Given the description of an element on the screen output the (x, y) to click on. 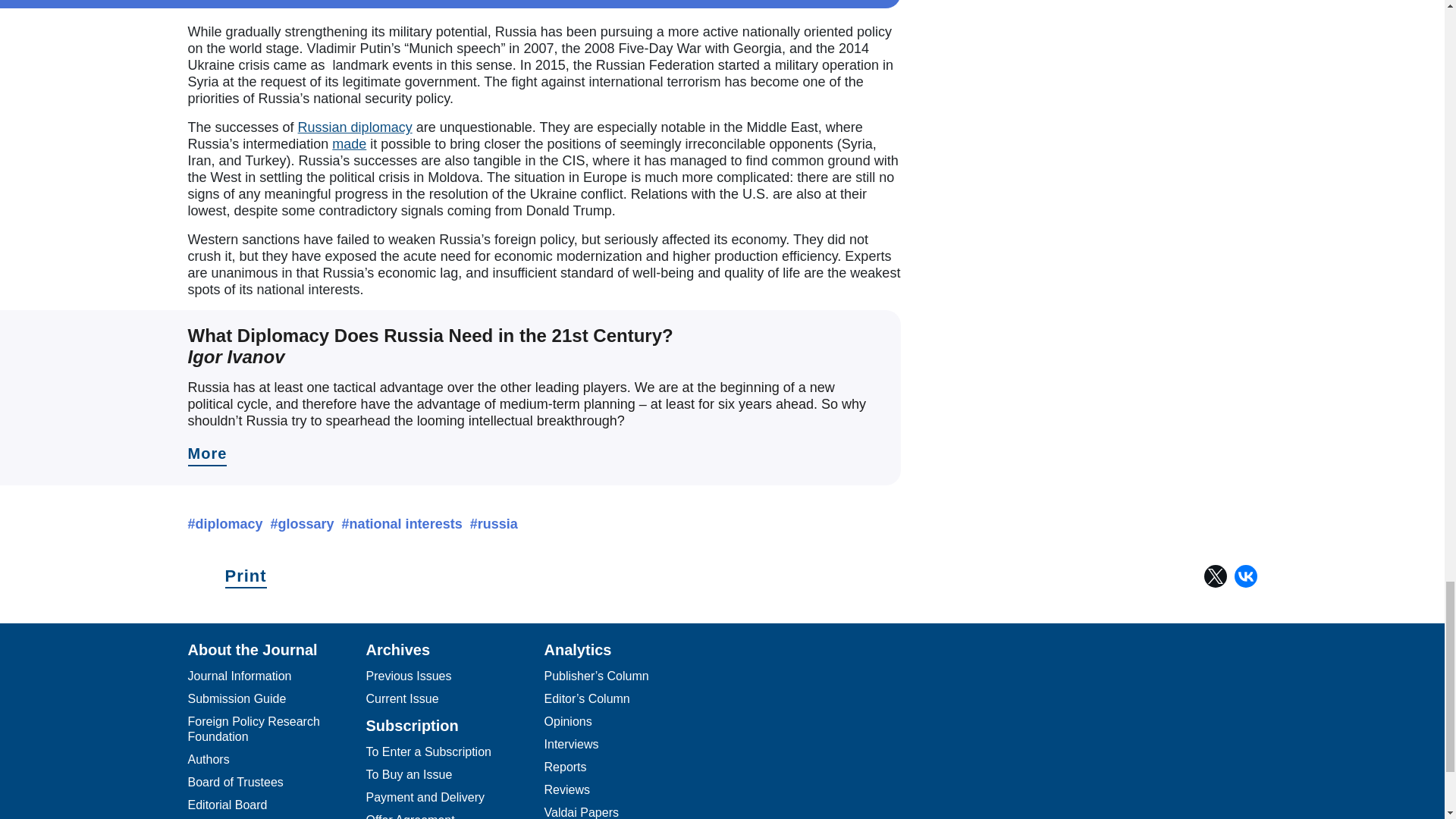
Twitter (805, 780)
Telegram (744, 780)
Twitter (1215, 576)
Vkontakte (865, 780)
RSS (926, 780)
